Given the description of an element on the screen output the (x, y) to click on. 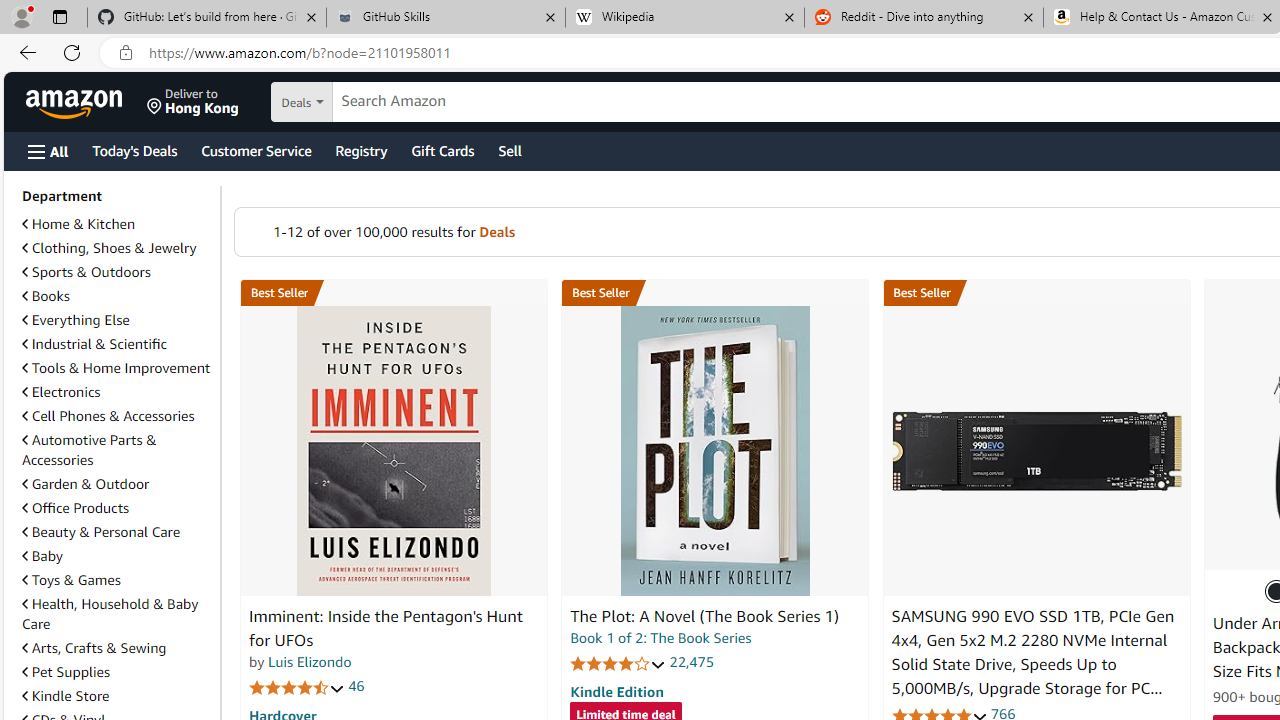
4.7 out of 5 stars (297, 686)
View site information (125, 53)
Reddit - Dive into anything (924, 17)
Tab actions menu (59, 16)
Garden & Outdoor (85, 484)
Deliver to Hong Kong (193, 101)
Registry (360, 150)
Today's Deals (134, 150)
Best Seller in Unexplained Mysteries (393, 293)
Skip to main content (86, 100)
Clothing, Shoes & Jewelry (109, 248)
Automotive Parts & Accessories (117, 449)
Garden & Outdoor (117, 483)
Sports & Outdoors (86, 271)
Baby (117, 555)
